Given the description of an element on the screen output the (x, y) to click on. 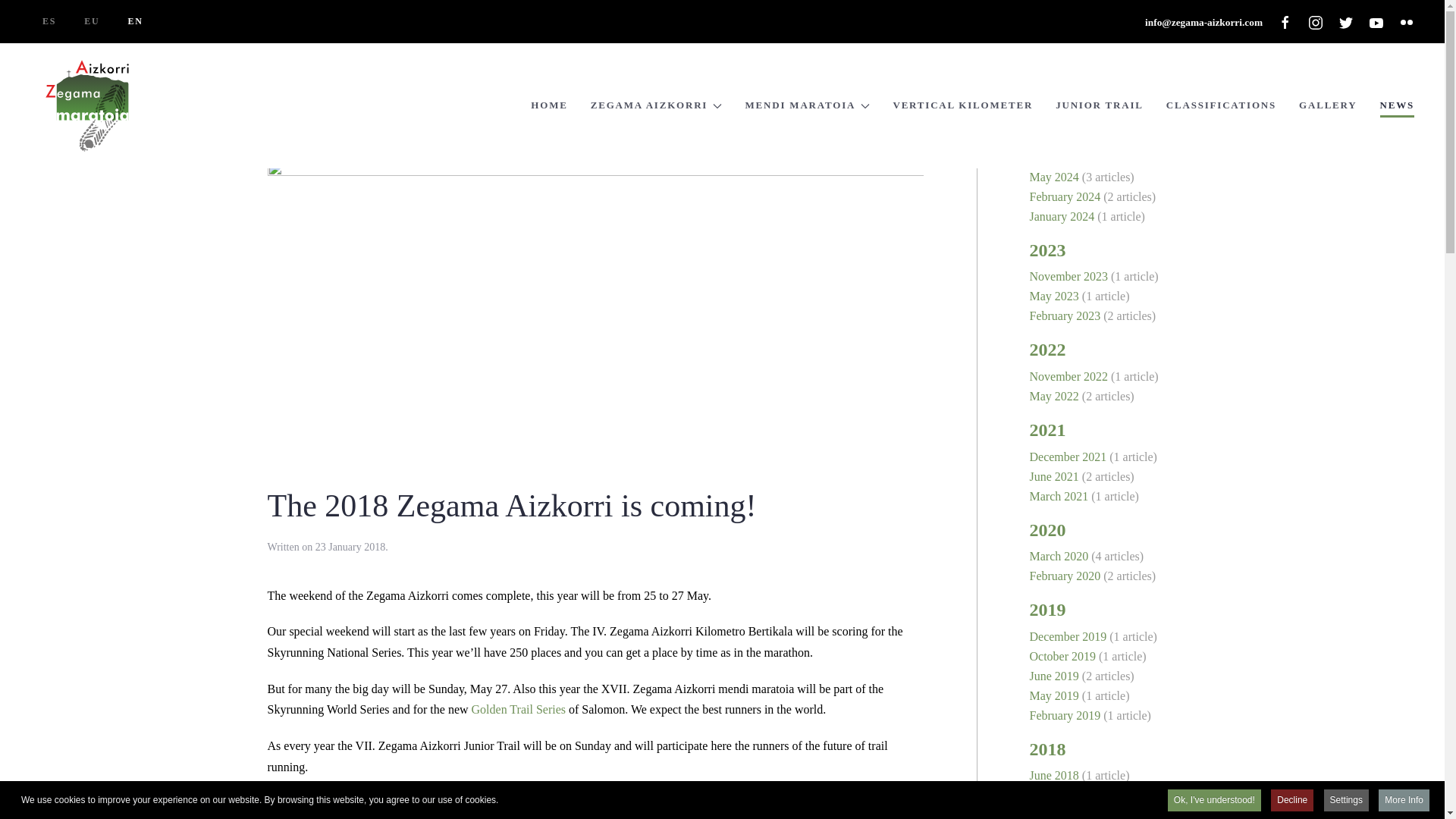
ES (49, 21)
EN (135, 21)
ZEGAMA AIZKORRI (656, 106)
EU (91, 21)
MENDI MARATOIA (806, 106)
